Given the description of an element on the screen output the (x, y) to click on. 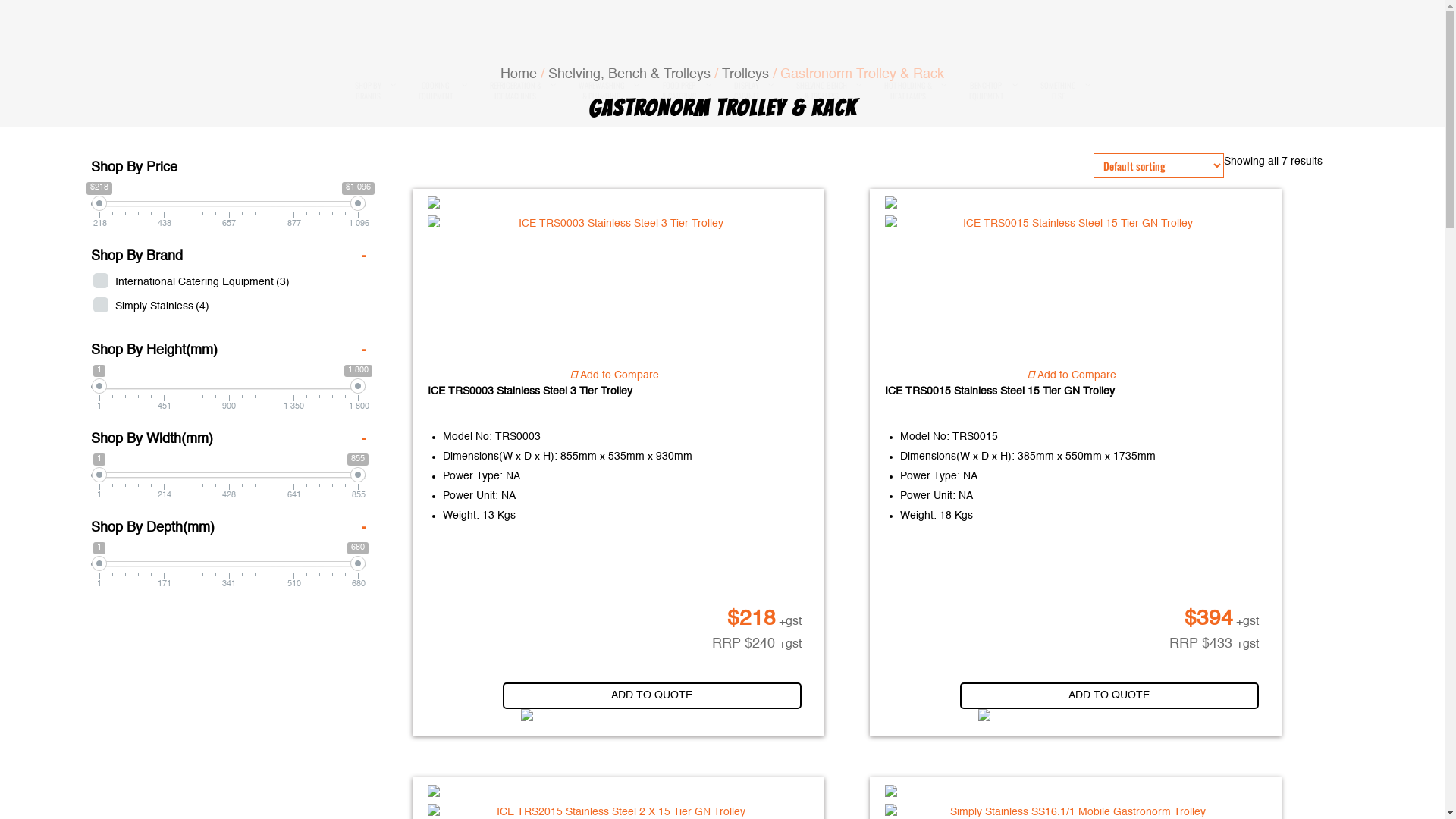
SHOP BY
BRANDS Element type: text (368, 90)
ICE TRS0003 Stainless Steel 3 Tier Trolley Element type: hover (614, 224)
ADD TO QUOTE Element type: text (651, 695)
Add to Compare Element type: text (614, 376)
ICE TRS0015 Stainless Steel 15 Tier GN Trolley Element type: text (1067, 404)
BENCHTOP
EQUIPMENT Element type: text (986, 90)
Trolleys Element type: text (744, 74)
Shelving, Bench & Trolleys Element type: text (629, 74)
- Element type: text (363, 527)
ICE TRS0003 Stainless Steel 3 Tier Trolley Element type: text (610, 404)
DISPLAY
CABINET Element type: text (746, 90)
COOKING
EQUIPMENT Element type: text (436, 90)
Home Element type: text (518, 74)
HOT HOLDING &
HEAT LAMPS Element type: text (908, 90)
ICE TRS0015 Stainless Steel 15 Tier GN Trolley Element type: hover (1071, 224)
REFRIGERATION &
ICE MACHINES Element type: text (516, 90)
- Element type: text (363, 350)
SOMETHING
ELSE Element type: text (1058, 90)
- Element type: text (363, 256)
ADD TO QUOTE Element type: text (1109, 695)
- Element type: text (363, 438)
FOOD PREP
& CATERING Element type: text (680, 90)
SHELVING BENCH
& TROLLEYS Element type: text (822, 90)
WAREWASHING
& PLUMBING Element type: text (603, 90)
Add to Compare Element type: text (1071, 376)
